Given the description of an element on the screen output the (x, y) to click on. 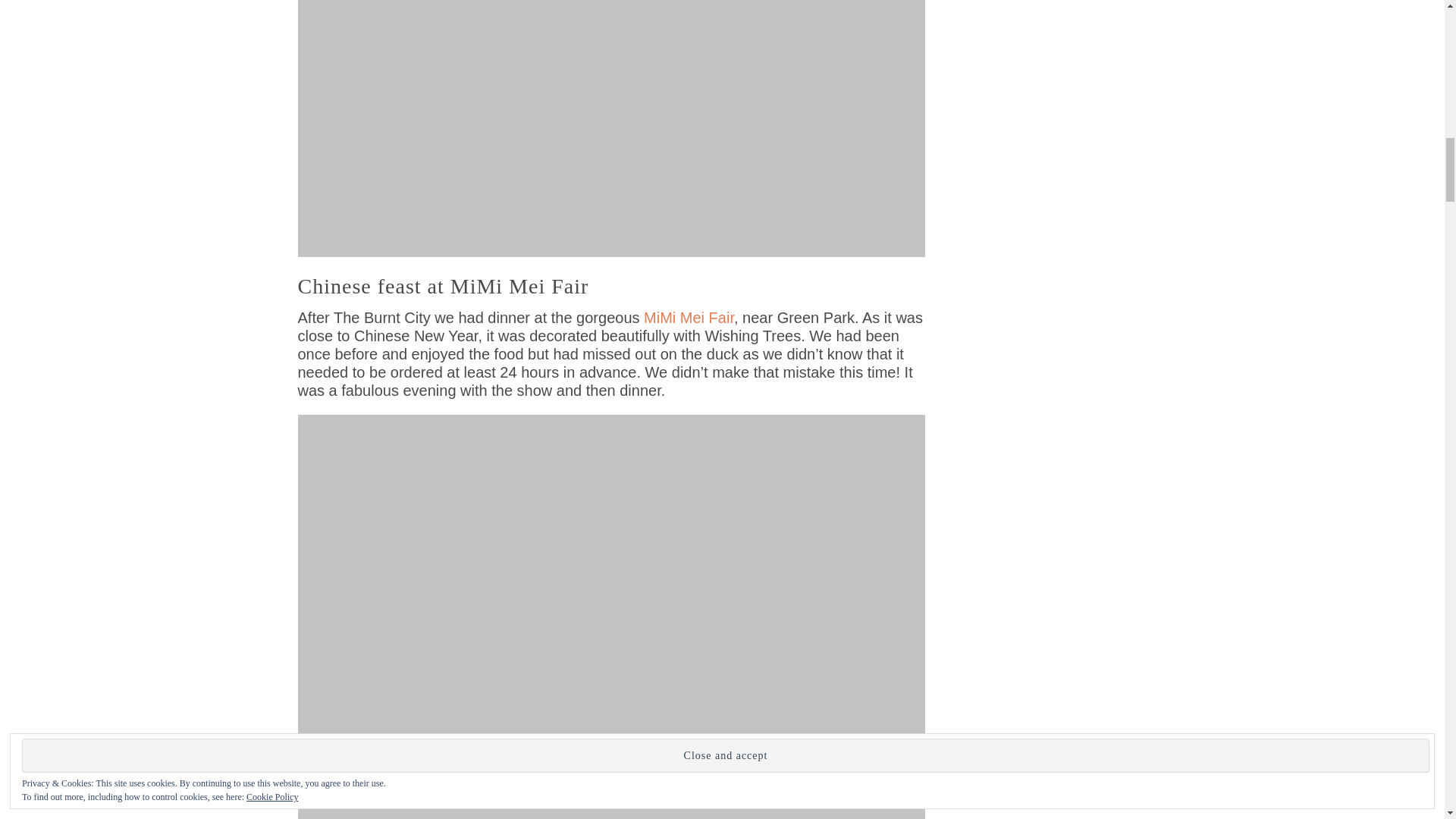
MiMi Mei Fair (688, 317)
